Given the description of an element on the screen output the (x, y) to click on. 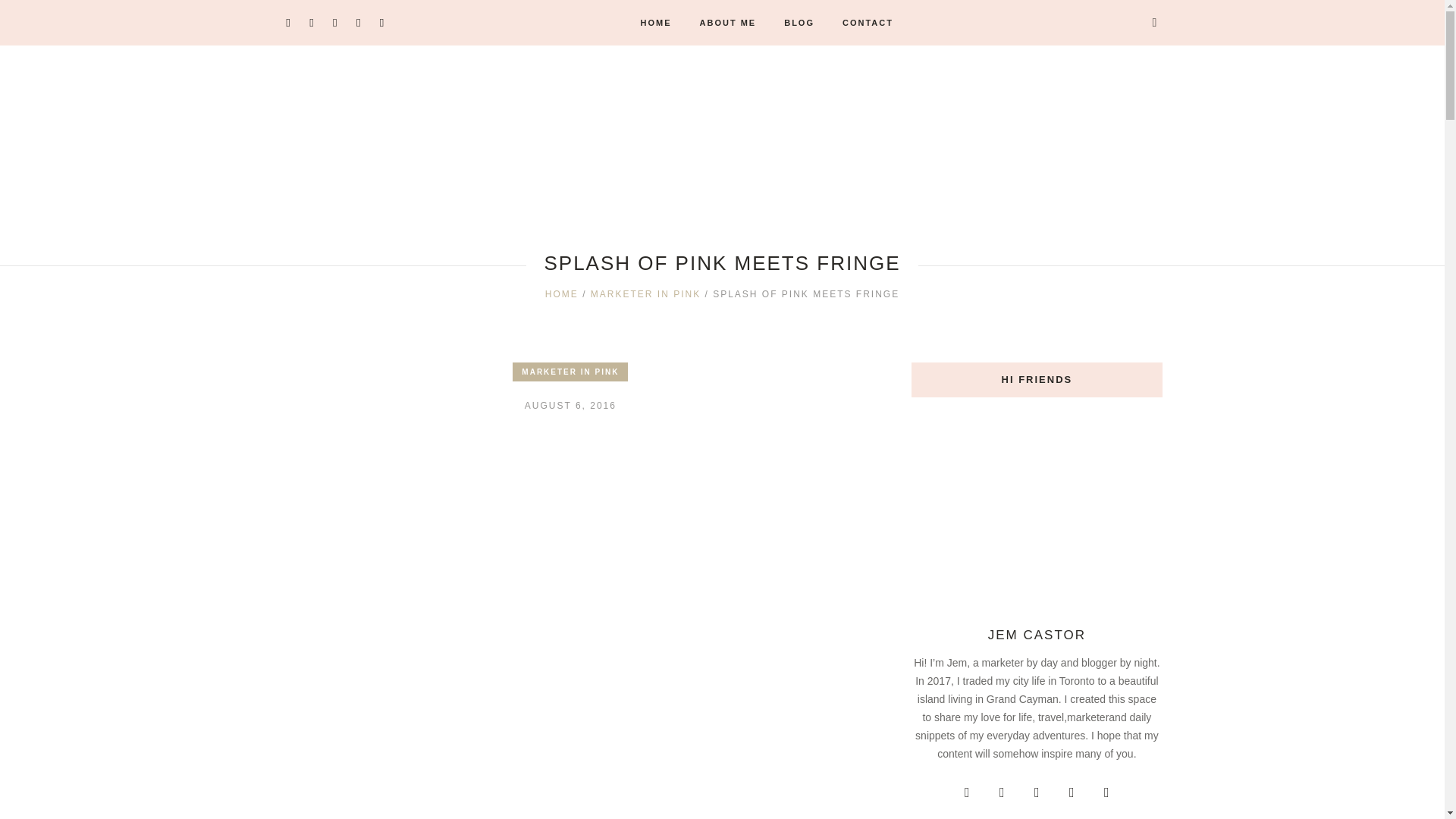
ABOUT ME (727, 22)
August 6, 2016 (569, 405)
Pinterest (1001, 792)
Instagram (966, 792)
MARKETER IN PINK (569, 371)
BLOG (799, 22)
HOME (561, 293)
HOME (656, 22)
CONTACT (867, 22)
MARKETER IN PINK (645, 293)
Twitter (1036, 792)
